Given the description of an element on the screen output the (x, y) to click on. 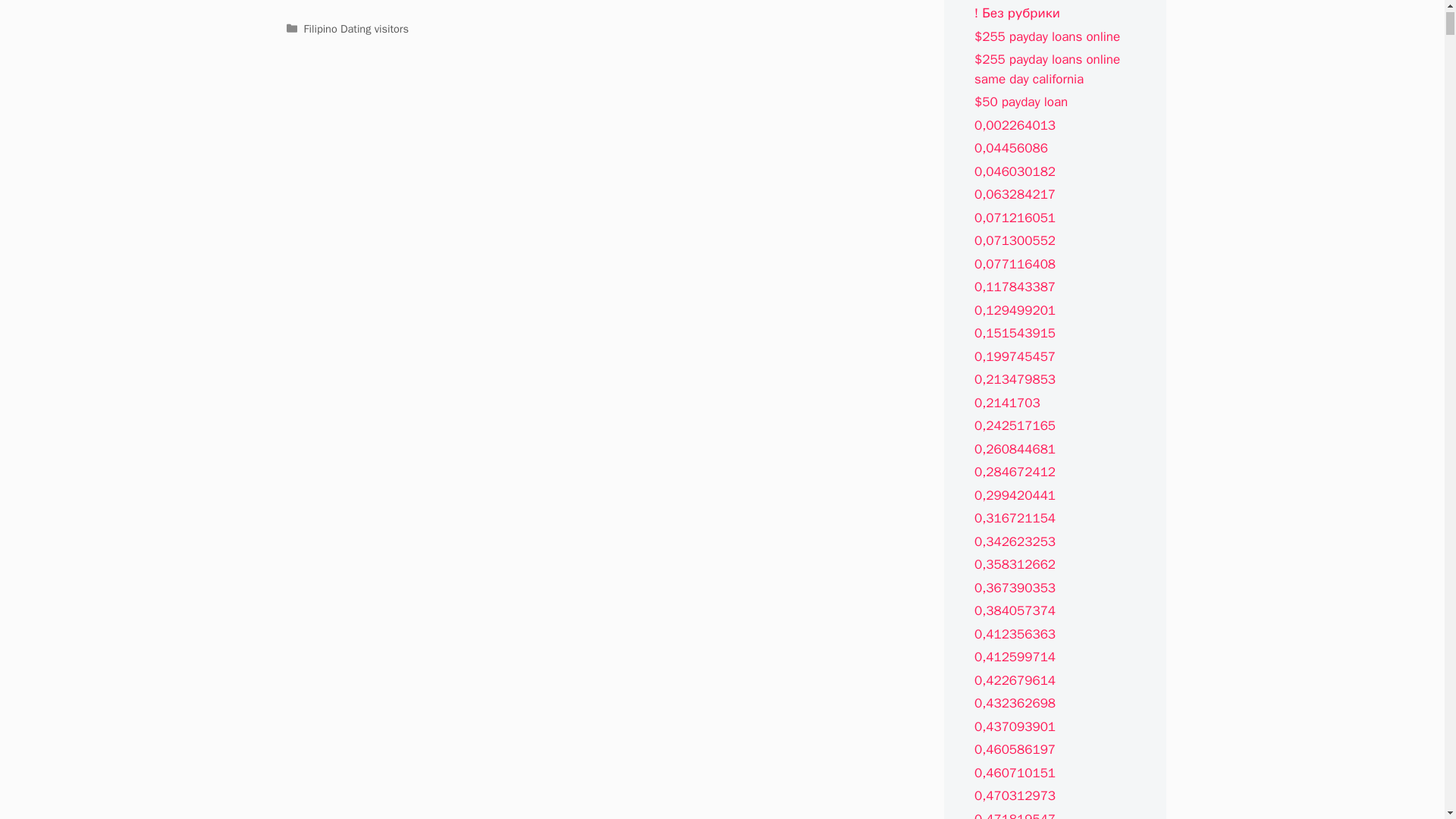
Filipino Dating visitors (356, 29)
